Given the description of an element on the screen output the (x, y) to click on. 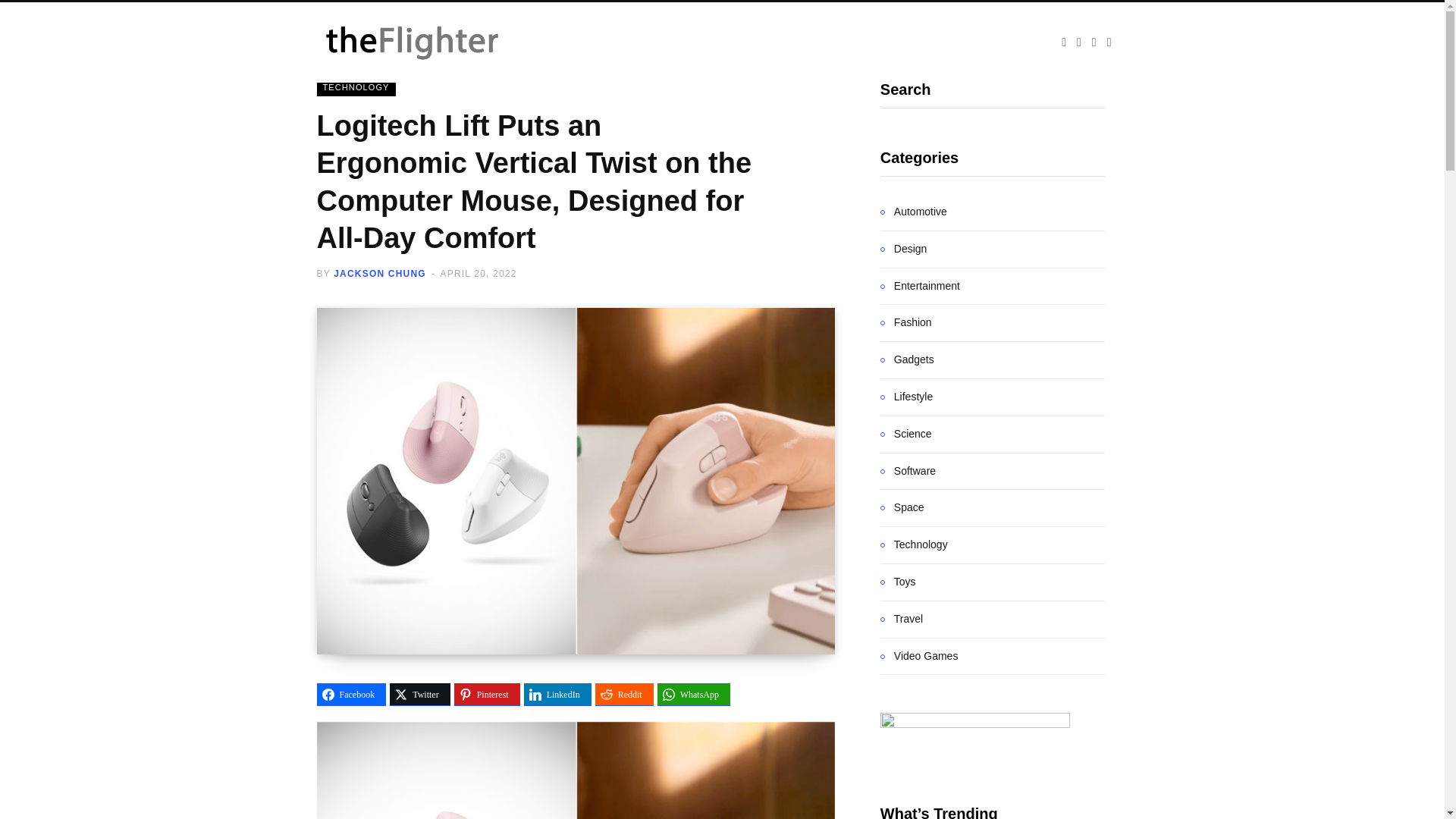
Share on WhatsApp (694, 694)
LinkedIn (557, 694)
Share on Pinterest (486, 694)
Reddit (624, 694)
APRIL 20, 2022 (478, 273)
Share on Reddit (624, 694)
Automotive (913, 212)
Posts by Jackson Chung (379, 273)
Share on LinkedIn (557, 694)
Pinterest (486, 694)
